Given the description of an element on the screen output the (x, y) to click on. 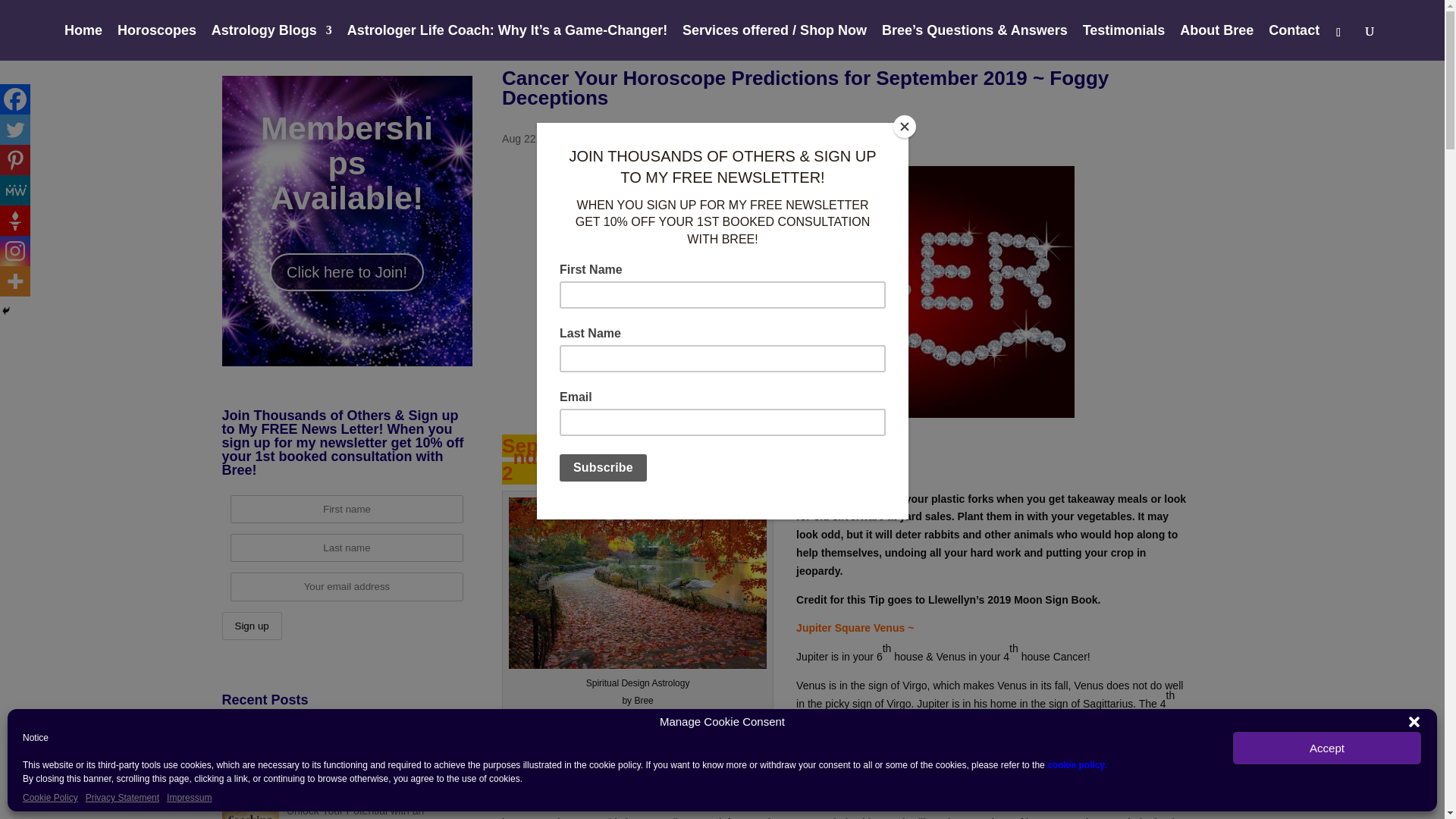
Pinterest (15, 159)
cookie policy. (1076, 765)
Impressum (189, 798)
Home (82, 42)
Sign up (251, 625)
Testimonials (1124, 42)
MeWe (15, 190)
Cancer 2019 (847, 291)
Accept (1326, 747)
Contact (1293, 42)
Cookie Privacy Policy (1076, 765)
More (15, 281)
Privacy Statement (121, 798)
Gettr (15, 220)
Horoscopes (156, 42)
